Given the description of an element on the screen output the (x, y) to click on. 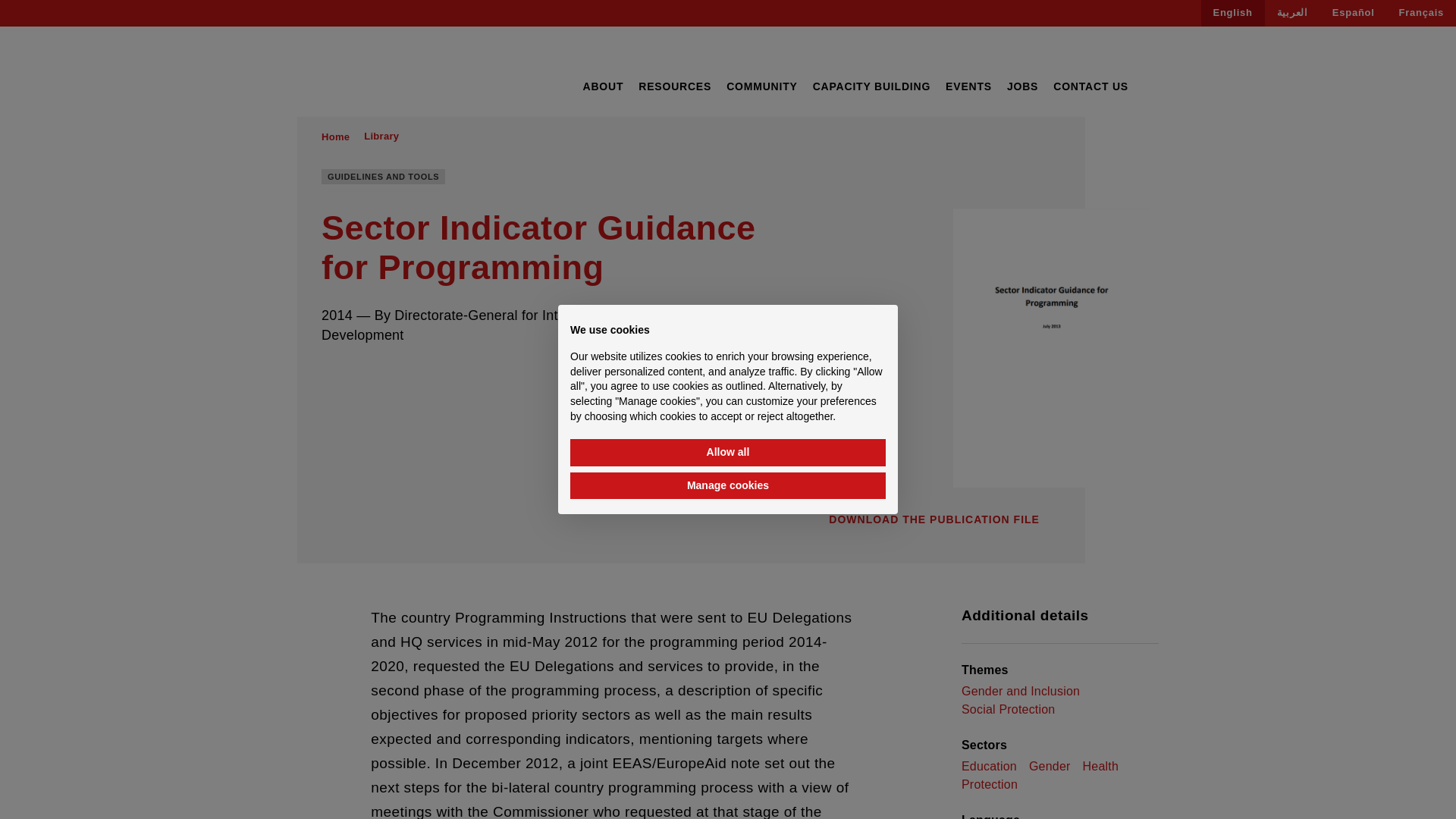
Go to Library (381, 136)
Share on Twitter (356, 375)
EVENTS (967, 86)
RESOURCES (675, 86)
Go to homepage (369, 72)
ABOUT (602, 86)
JOBS (1022, 86)
Share on LinkedIn (384, 375)
